Given the description of an element on the screen output the (x, y) to click on. 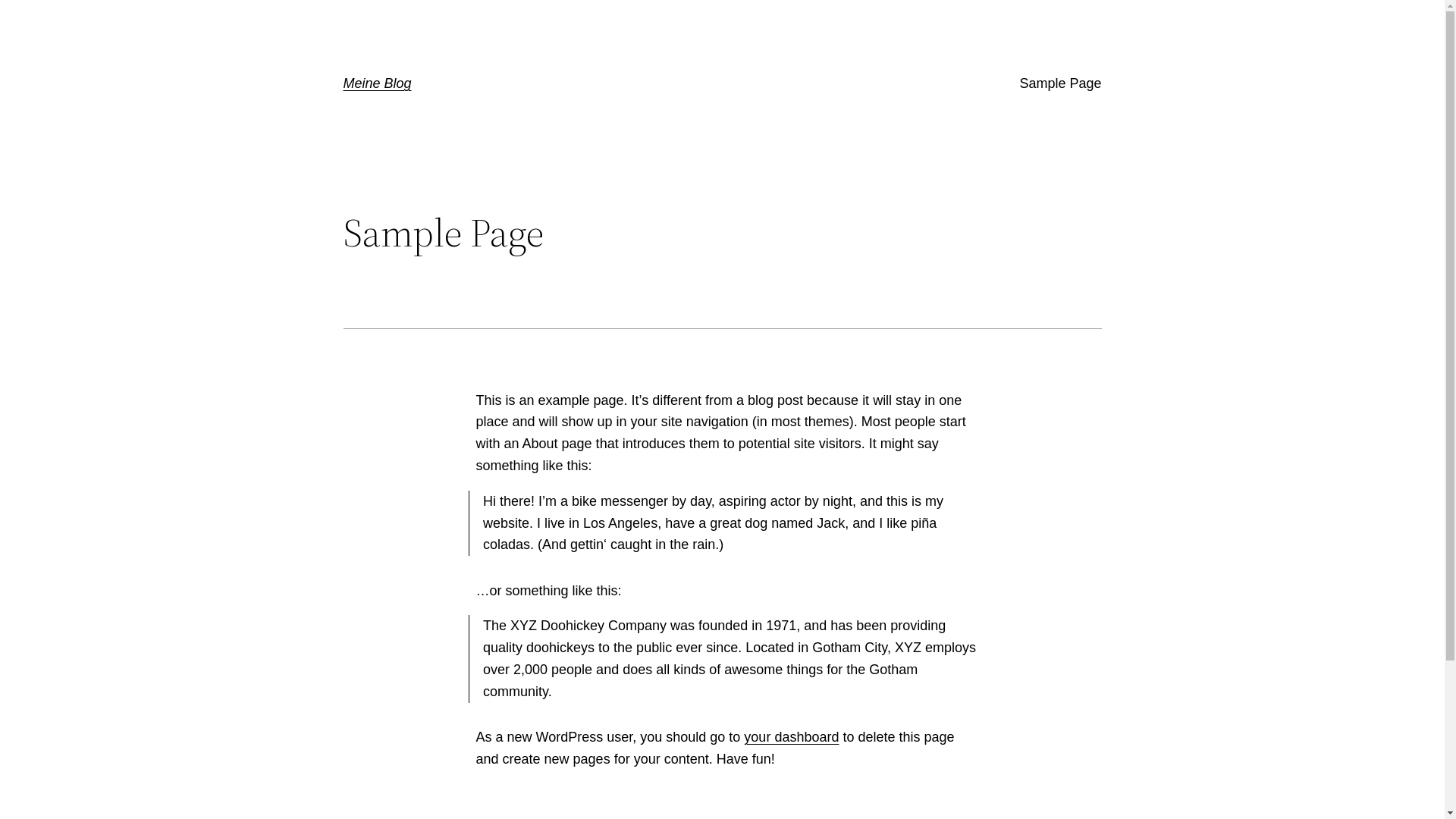
Meine Blog Element type: text (376, 83)
your dashboard Element type: text (790, 736)
Sample Page Element type: text (1060, 83)
